Given the description of an element on the screen output the (x, y) to click on. 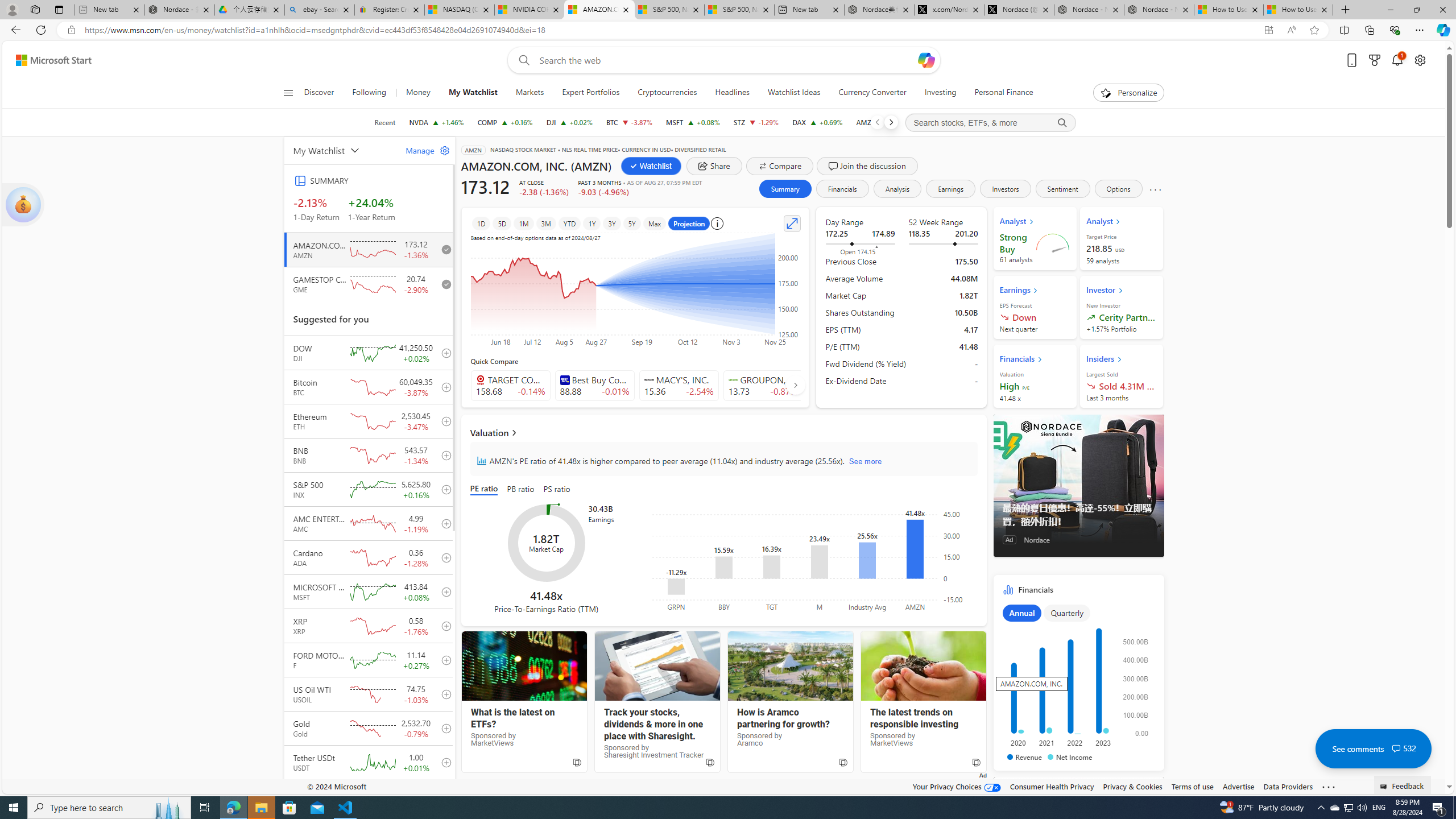
Class: recharts-surface (811, 559)
DJI DOW increase 41,250.50 +9.98 +0.02% (568, 122)
Register: Create a personal eBay account (389, 9)
Money (418, 92)
Microsoft rewards (1374, 60)
Ad (1008, 539)
